Given the description of an element on the screen output the (x, y) to click on. 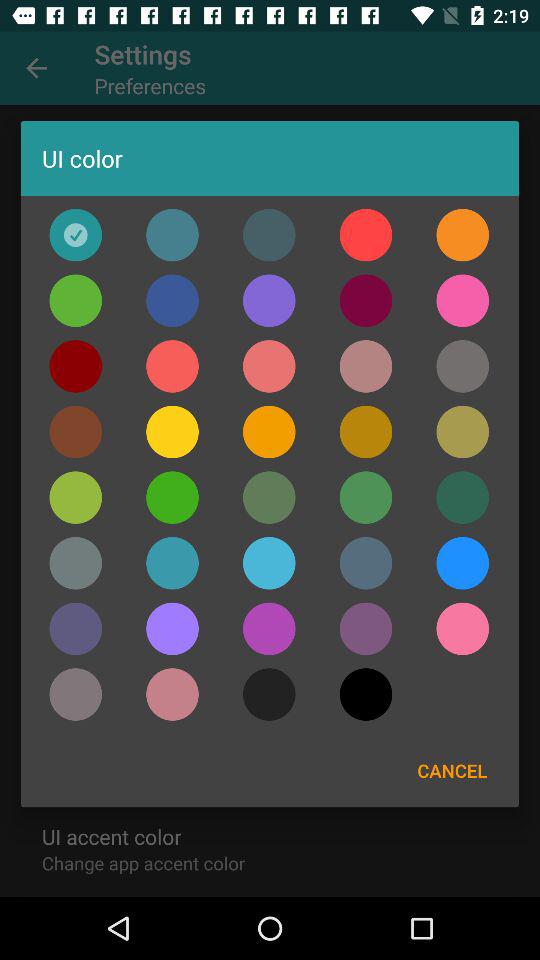
open icon below the ui color icon (268, 234)
